Given the description of an element on the screen output the (x, y) to click on. 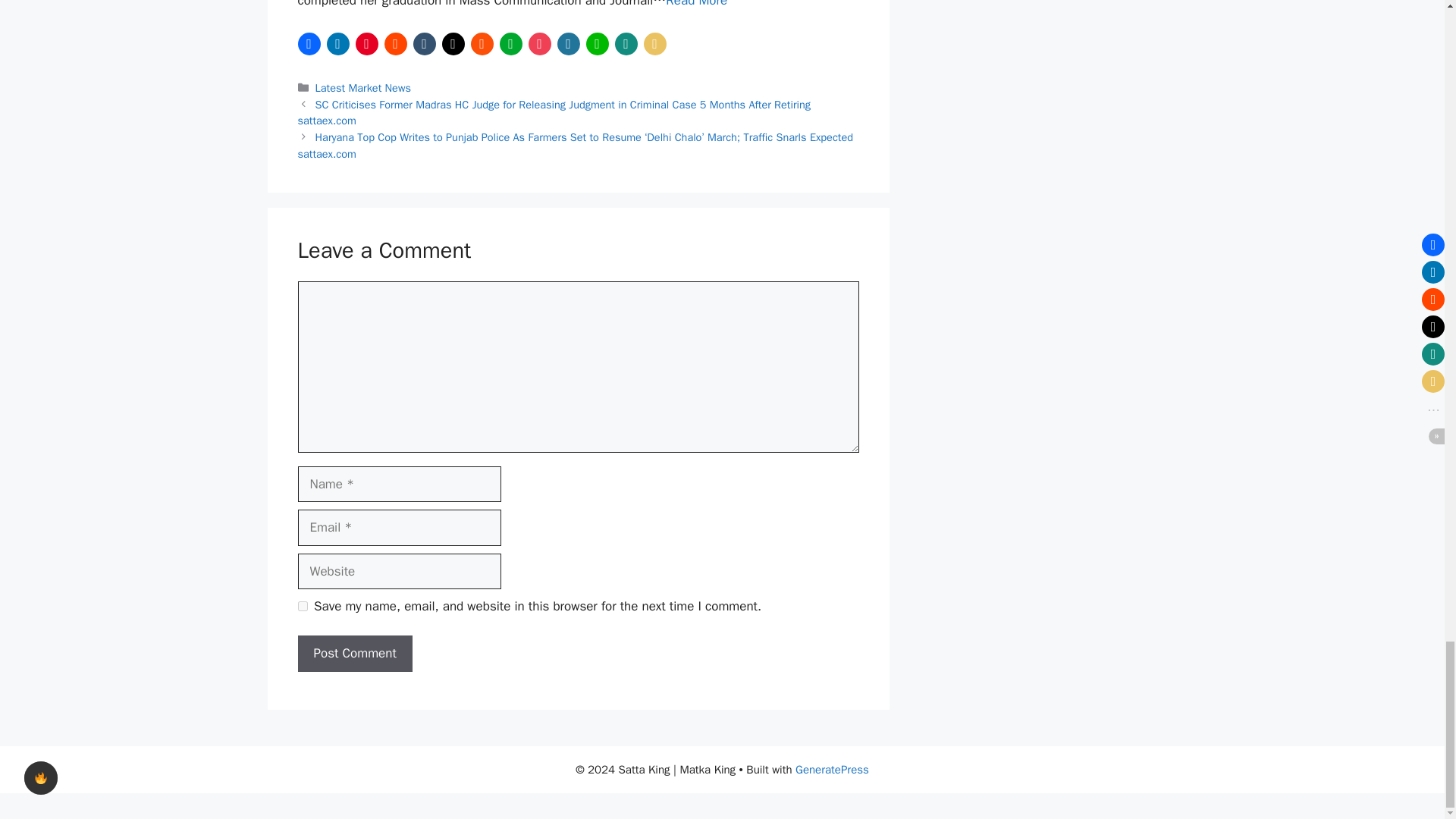
Read More (695, 4)
yes (302, 605)
Post Comment (354, 653)
GeneratePress (831, 769)
Latest Market News (362, 88)
Post Comment (354, 653)
